Given the description of an element on the screen output the (x, y) to click on. 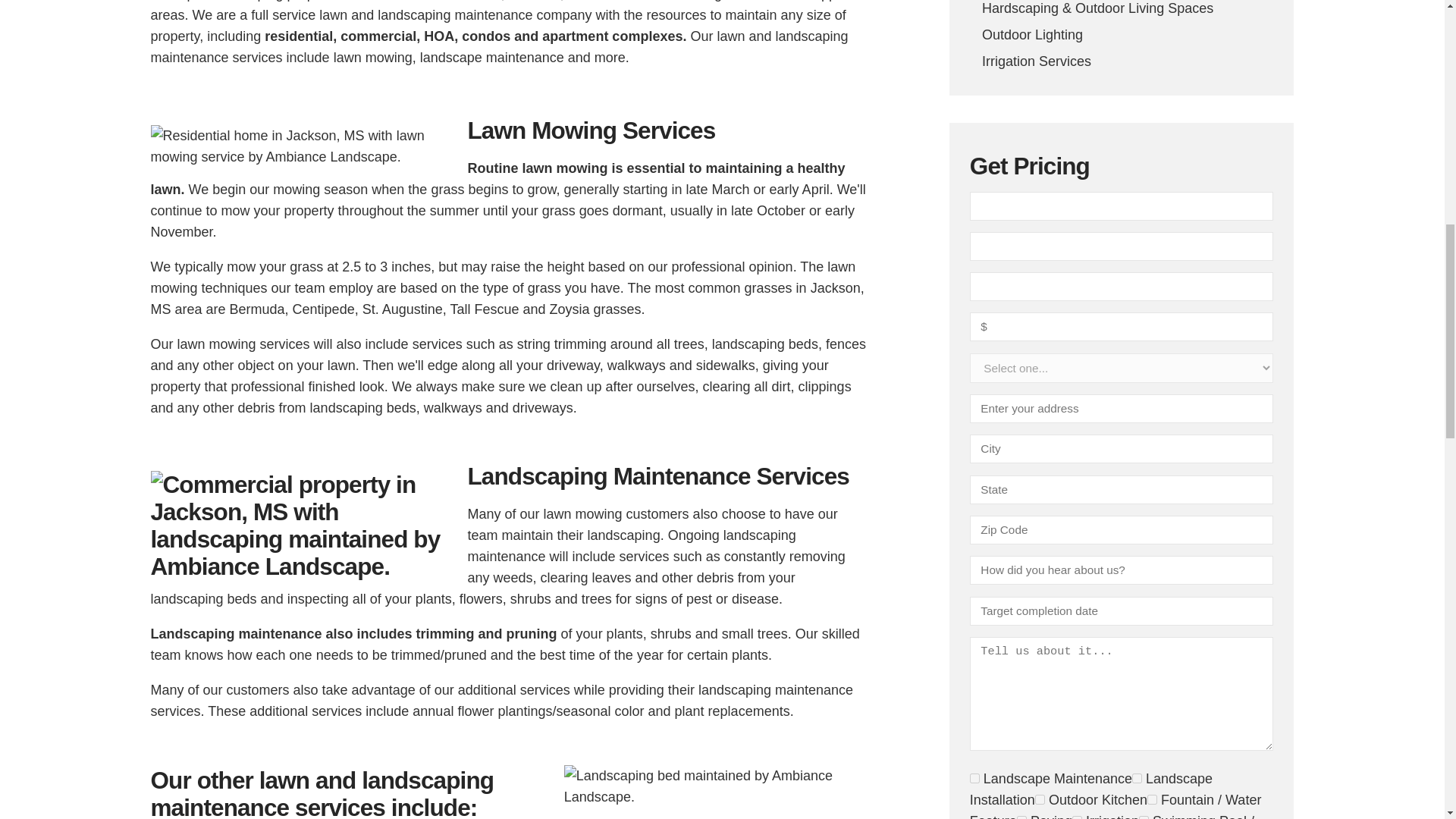
Outdoor Lighting (1121, 34)
Landscape Installation (1136, 777)
Landscape Maintenance (974, 777)
Paving (1021, 817)
Outdoor Kitchen (1040, 799)
Irrigation (1076, 817)
Irrigation Services (1121, 61)
